Given the description of an element on the screen output the (x, y) to click on. 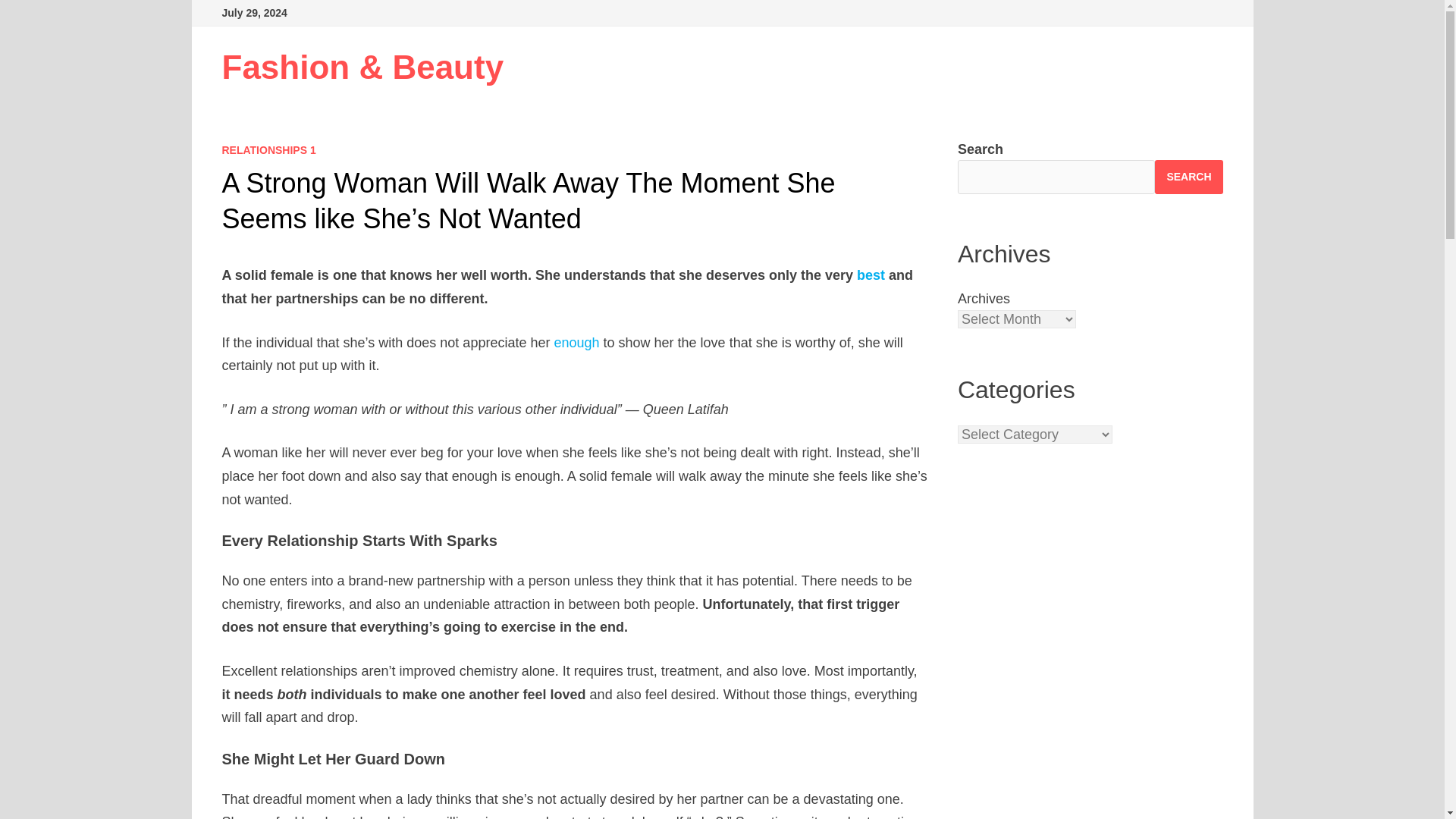
SEARCH (1188, 176)
best (871, 274)
RELATIONSHIPS 1 (268, 150)
enough (575, 342)
